Given the description of an element on the screen output the (x, y) to click on. 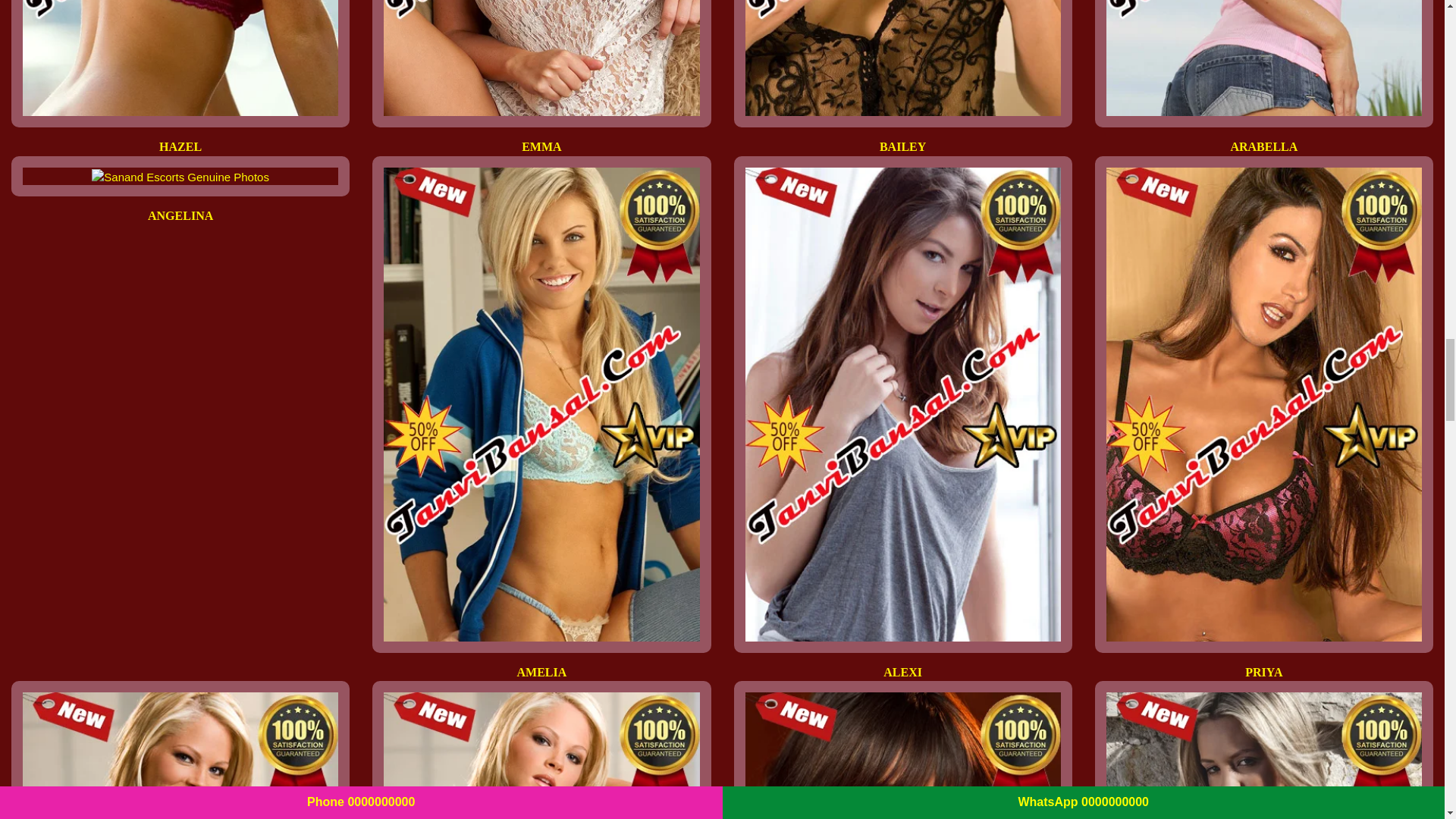
Kondapur Escorts - Bailey (901, 58)
Somajiguda Escorts - Angelina (180, 176)
Madhapur Escorts - Hazel (180, 58)
Koti Escorts - Arabella (1264, 58)
Uppal Escorts - Emma (541, 58)
